Given the description of an element on the screen output the (x, y) to click on. 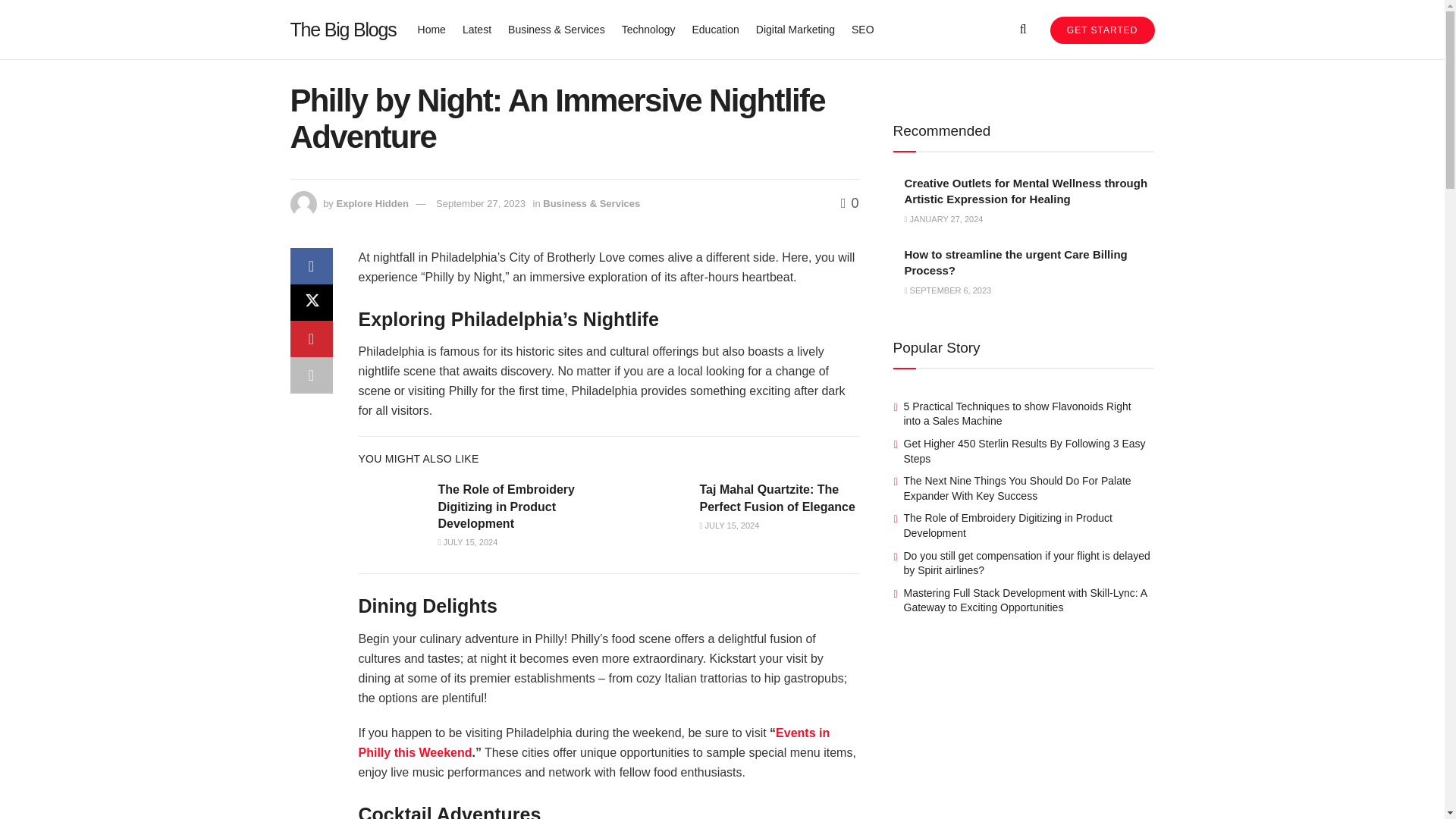
September 27, 2023 (480, 203)
The Big Blogs (342, 28)
Digital Marketing (794, 29)
Explore Hidden (371, 203)
Home (431, 29)
0 (850, 202)
JULY 15, 2024 (467, 542)
SEO (863, 29)
Taj Mahal Quartzite: The Perfect Fusion of Elegance (776, 497)
Latest (477, 29)
Technology (648, 29)
GET STARTED (1101, 30)
The Role of Embroidery Digitizing in Product Development (506, 506)
Education (714, 29)
